Given the description of an element on the screen output the (x, y) to click on. 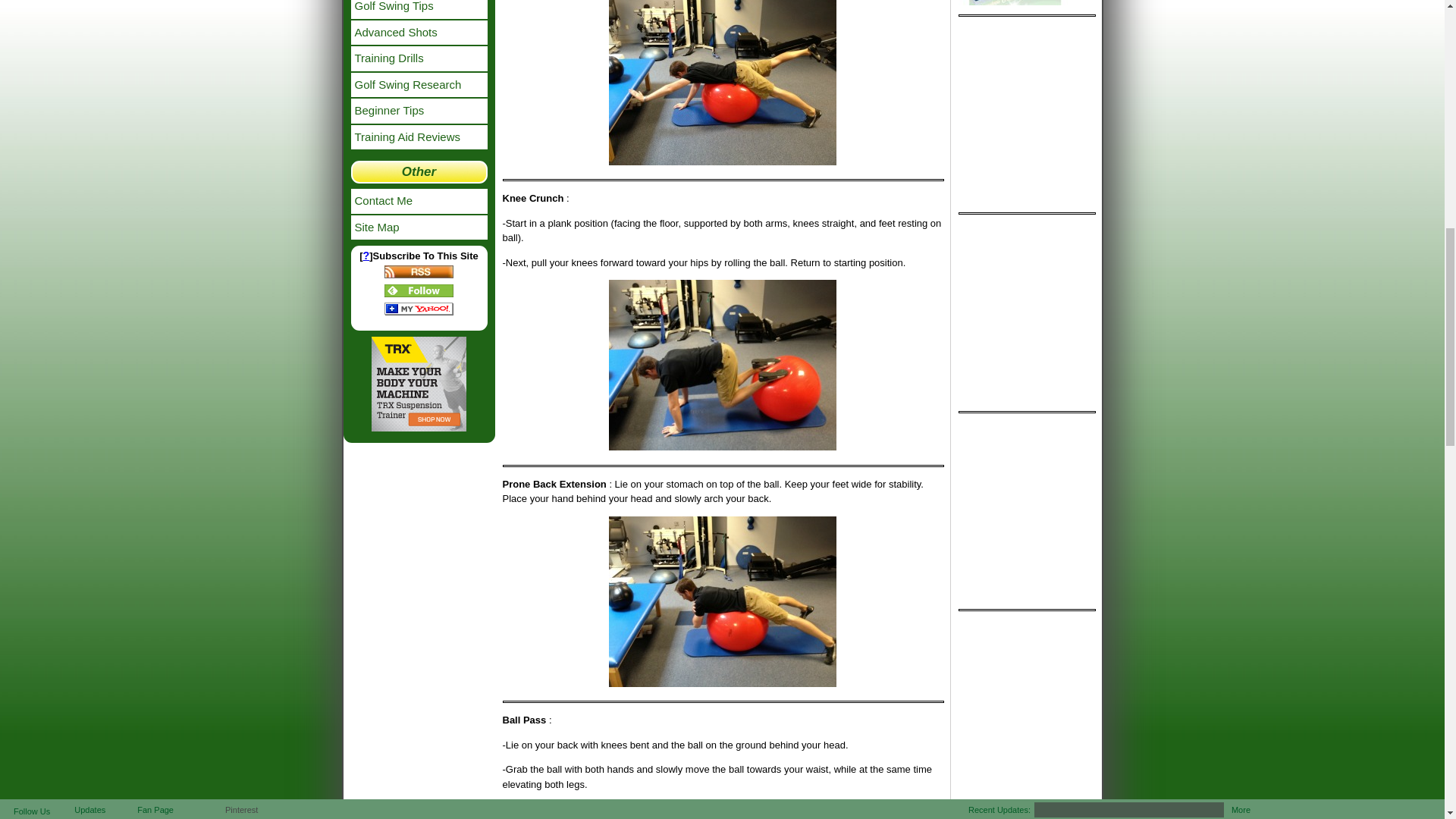
Golf Swing Tips (418, 9)
exercise ball reverse crunch (721, 365)
Training Drills (418, 58)
Back extension on exercise ball (721, 600)
Beginner Tips (418, 110)
Advanced Shots (418, 32)
Training Aid Reviews (418, 136)
Golf Swing Research (418, 84)
exercise ball birddog (721, 82)
